Given the description of an element on the screen output the (x, y) to click on. 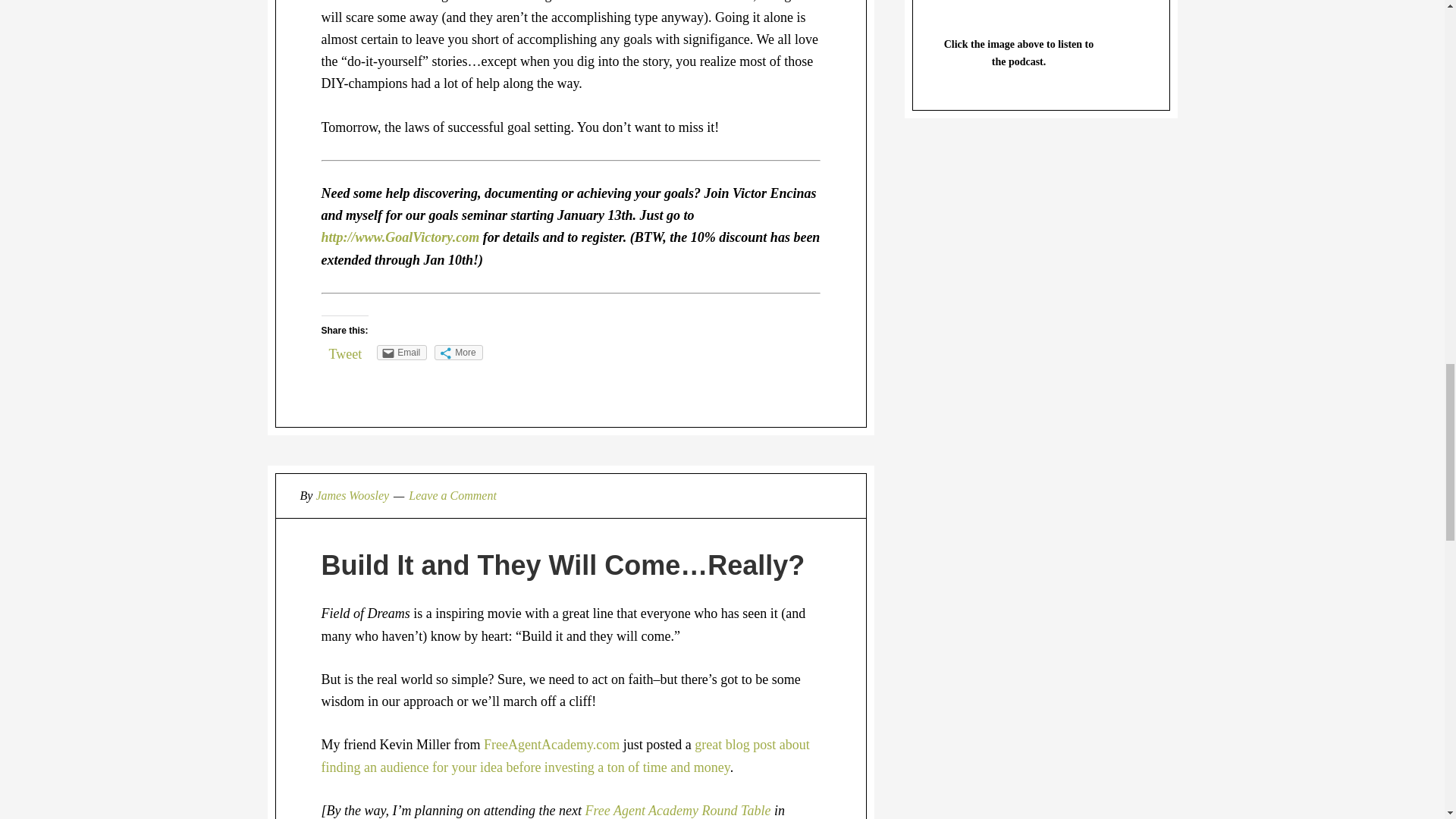
Click to email a link to a friend (401, 352)
James Woosley (351, 495)
More (457, 352)
Free Agent Academy Round Table (677, 810)
Leave a Comment (452, 495)
Tweet (345, 353)
Email (401, 352)
FreeAgentAcademy.com (551, 744)
The Conquer Your Kryptonite Show (1018, 9)
